Given the description of an element on the screen output the (x, y) to click on. 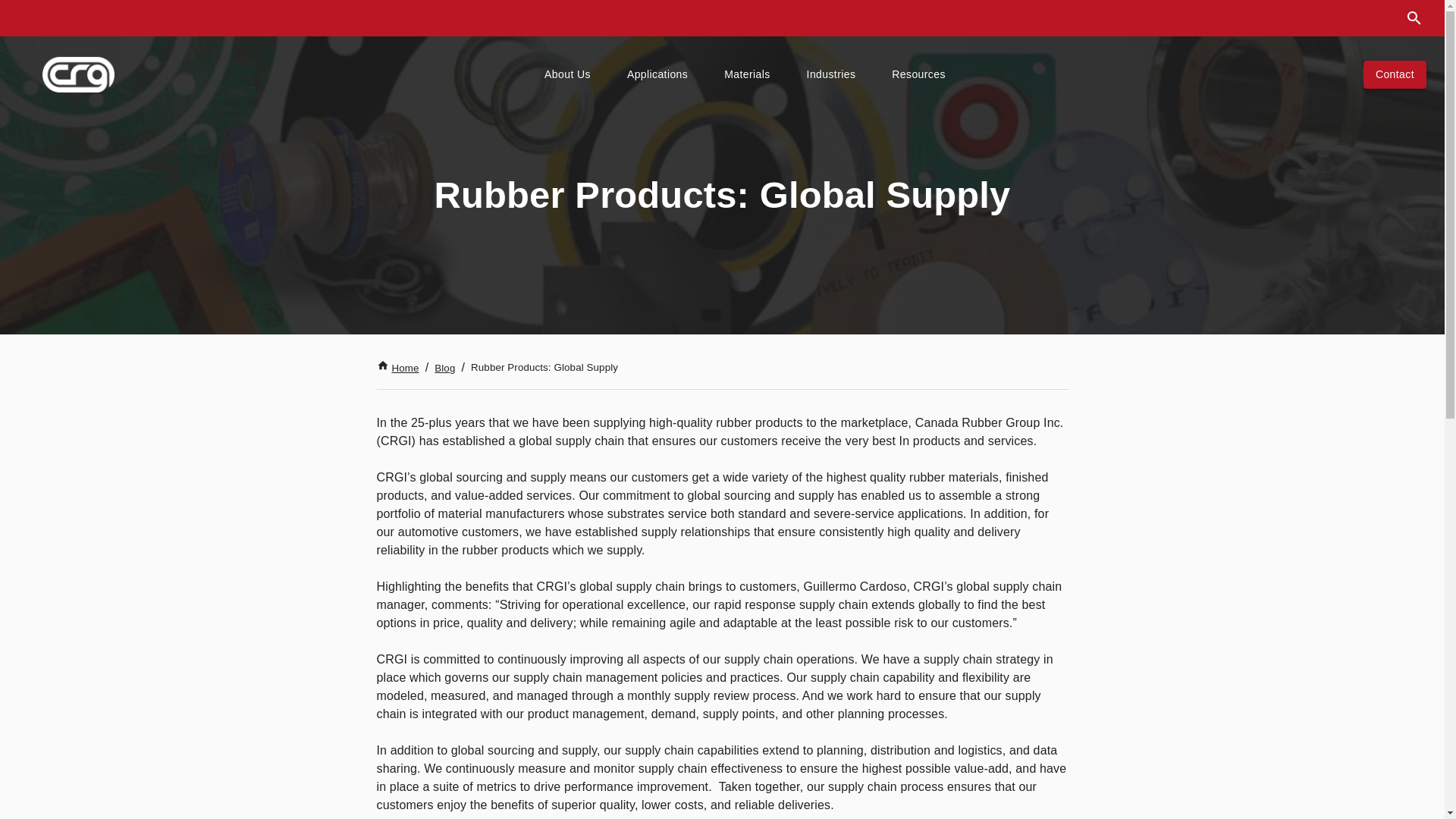
Applications (657, 74)
Materials (746, 74)
Industries (830, 74)
Skip to content (23, 24)
Blog (443, 367)
Contact (1394, 74)
Home (397, 367)
Resources (918, 74)
About Us (567, 74)
